Given the description of an element on the screen output the (x, y) to click on. 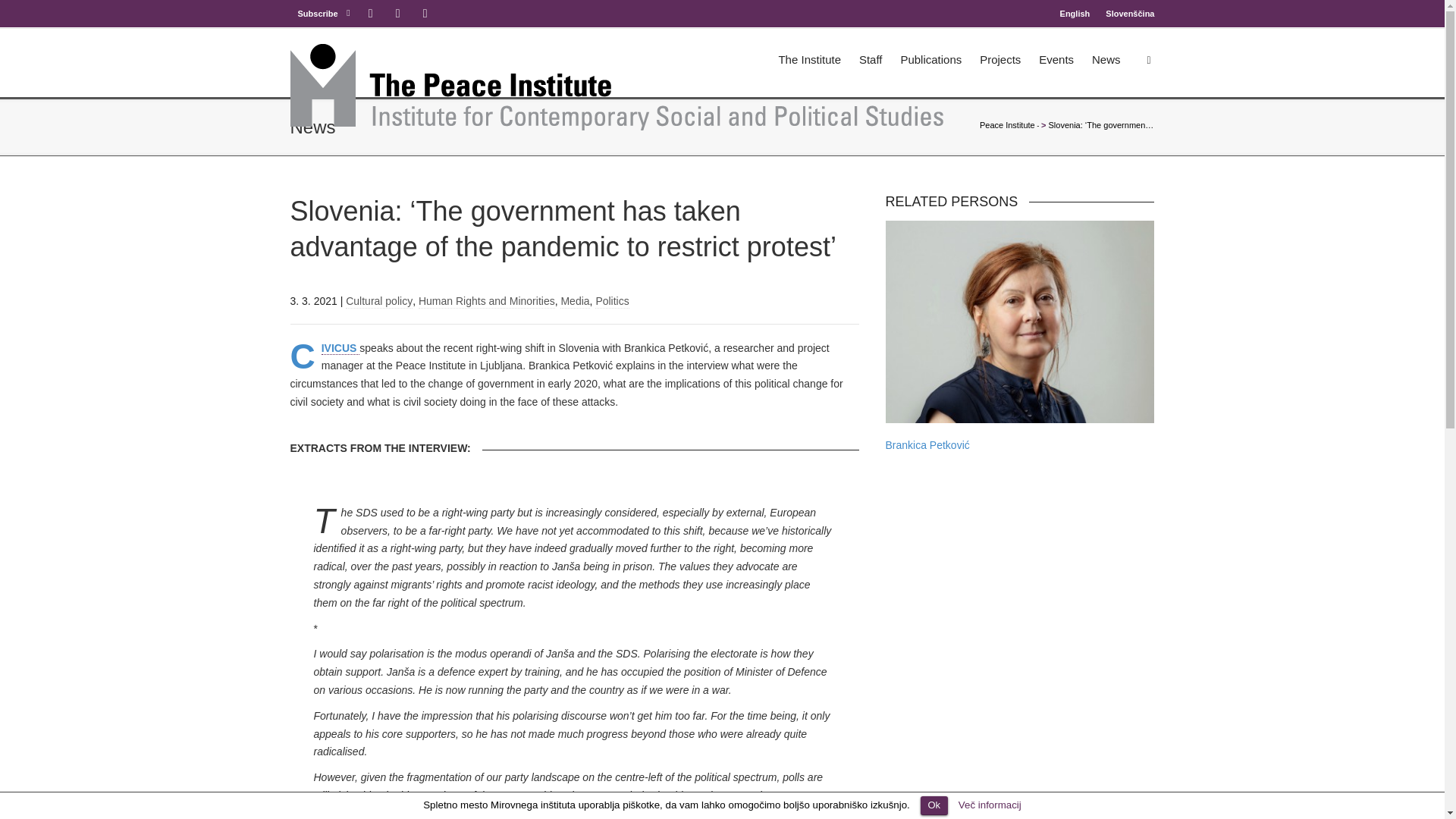
Politics (611, 299)
Media (574, 299)
Cultural policy (379, 299)
Human Rights and Minorities (486, 299)
